Given the description of an element on the screen output the (x, y) to click on. 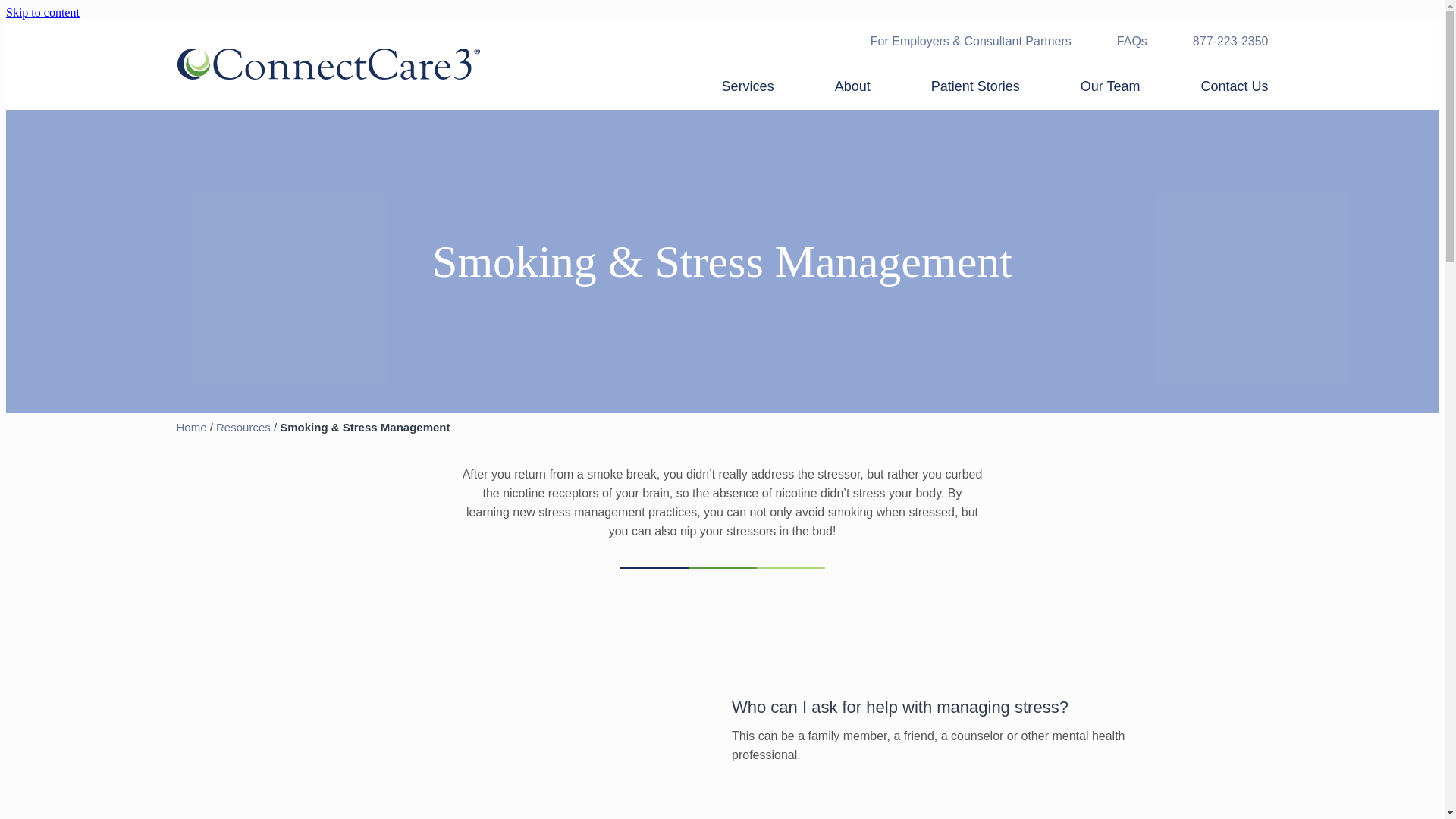
Contact Us (1233, 86)
Services (748, 86)
Skip to content (42, 11)
877-223-2350 (1230, 41)
Home (191, 427)
About (852, 86)
Patient Stories (975, 86)
FAQs (1131, 41)
Our Team (1110, 86)
Resources (242, 427)
